Given the description of an element on the screen output the (x, y) to click on. 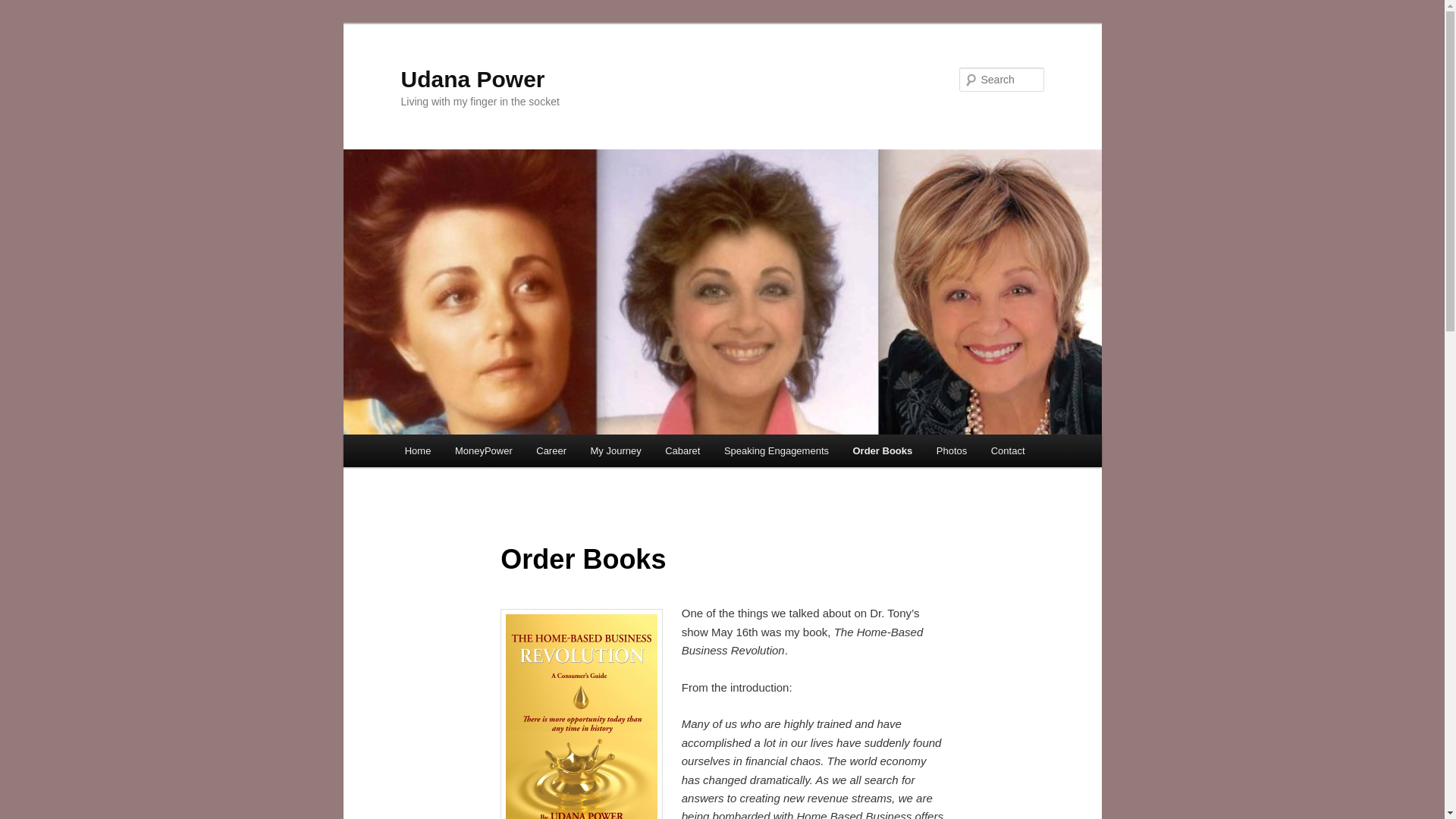
Photos (951, 450)
Search (24, 8)
Contact (1007, 450)
Udana Power (472, 78)
MoneyPower (483, 450)
Order Books (882, 450)
Career (551, 450)
Speaking Engagements (776, 450)
Home (417, 450)
Cabaret (681, 450)
My Journey (615, 450)
